Given the description of an element on the screen output the (x, y) to click on. 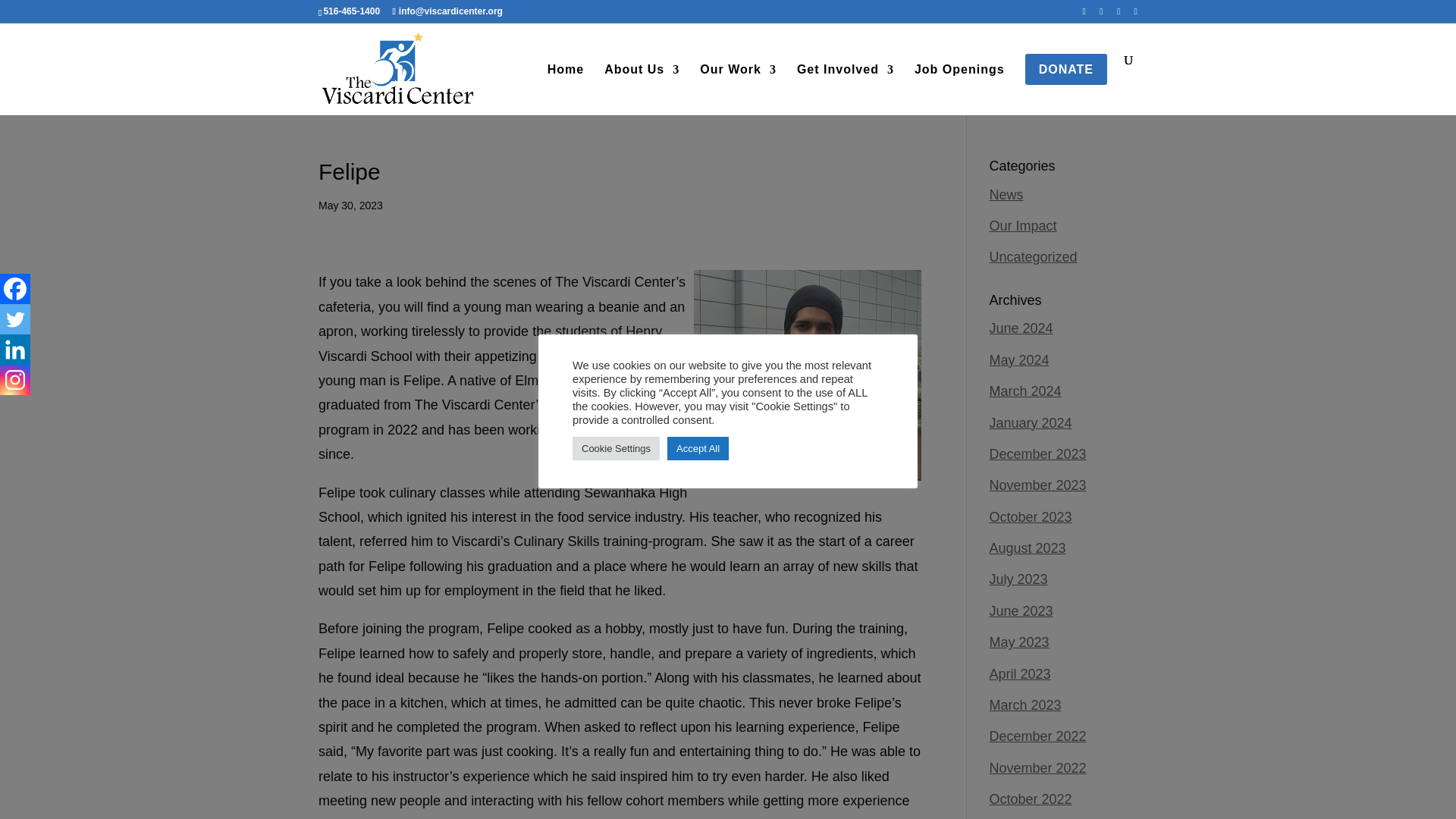
Job Openings (959, 84)
Home (565, 84)
516-465-1400 (351, 10)
DONATE (1065, 84)
Get Involved (844, 84)
About Us (641, 84)
Our Work (738, 84)
